Given the description of an element on the screen output the (x, y) to click on. 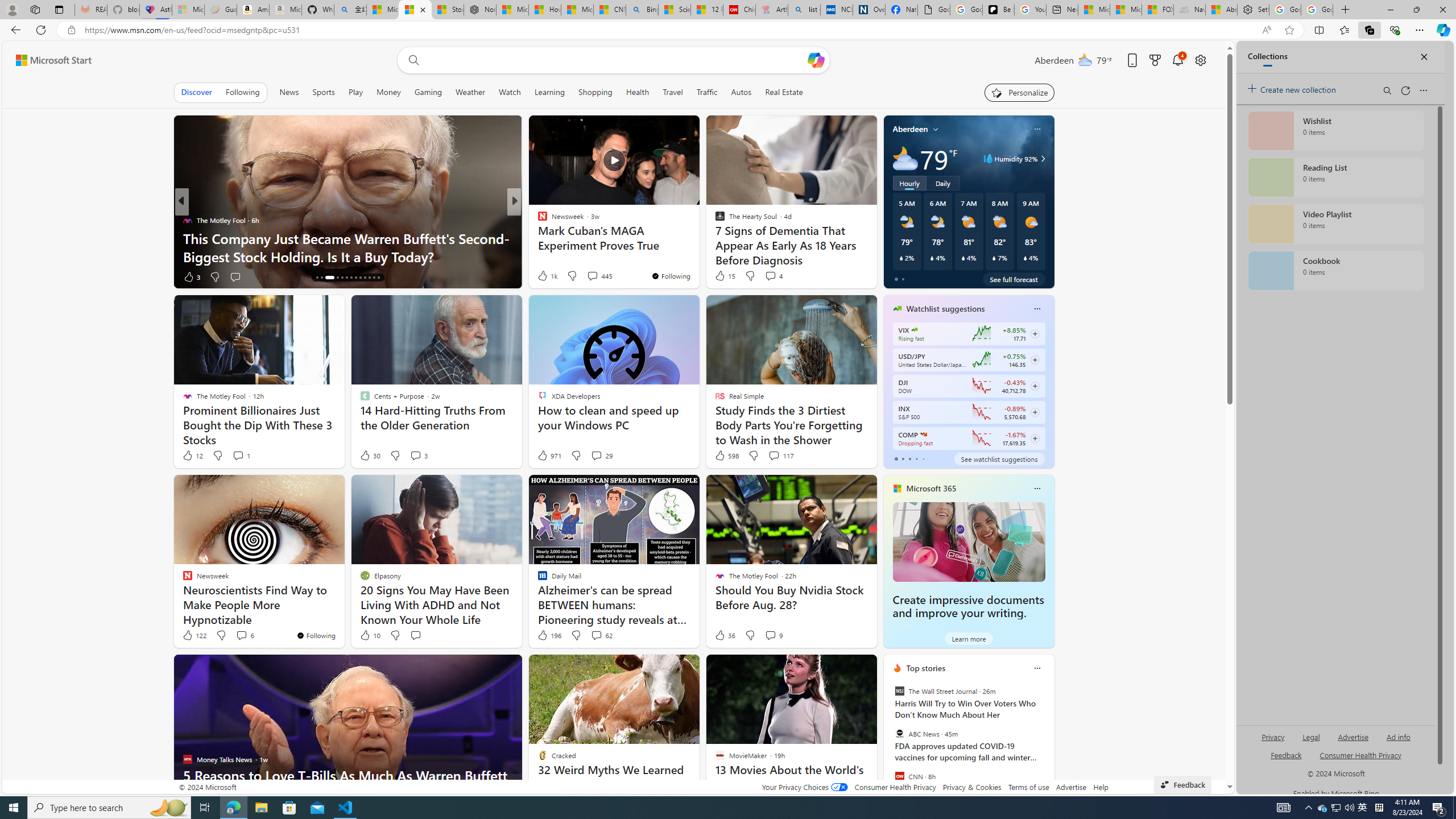
The Motley Fool (537, 219)
CNN (898, 775)
Autos (740, 92)
You're following Newsweek (315, 635)
86 Like (543, 276)
36 Like (724, 634)
Terms of use (1028, 786)
View comments 38 Comment (597, 276)
